Given the description of an element on the screen output the (x, y) to click on. 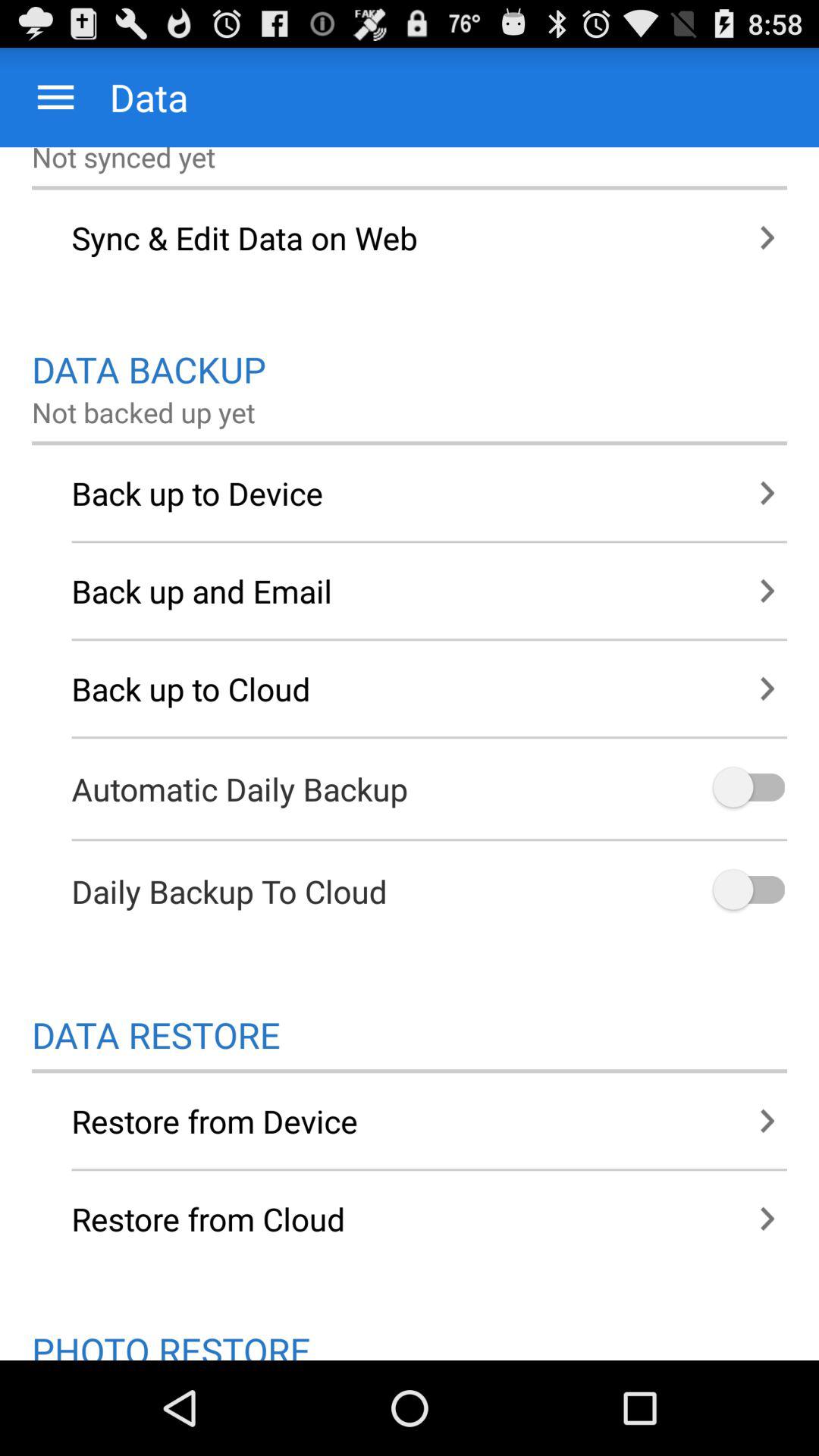
click icon above the data backup icon (409, 237)
